Given the description of an element on the screen output the (x, y) to click on. 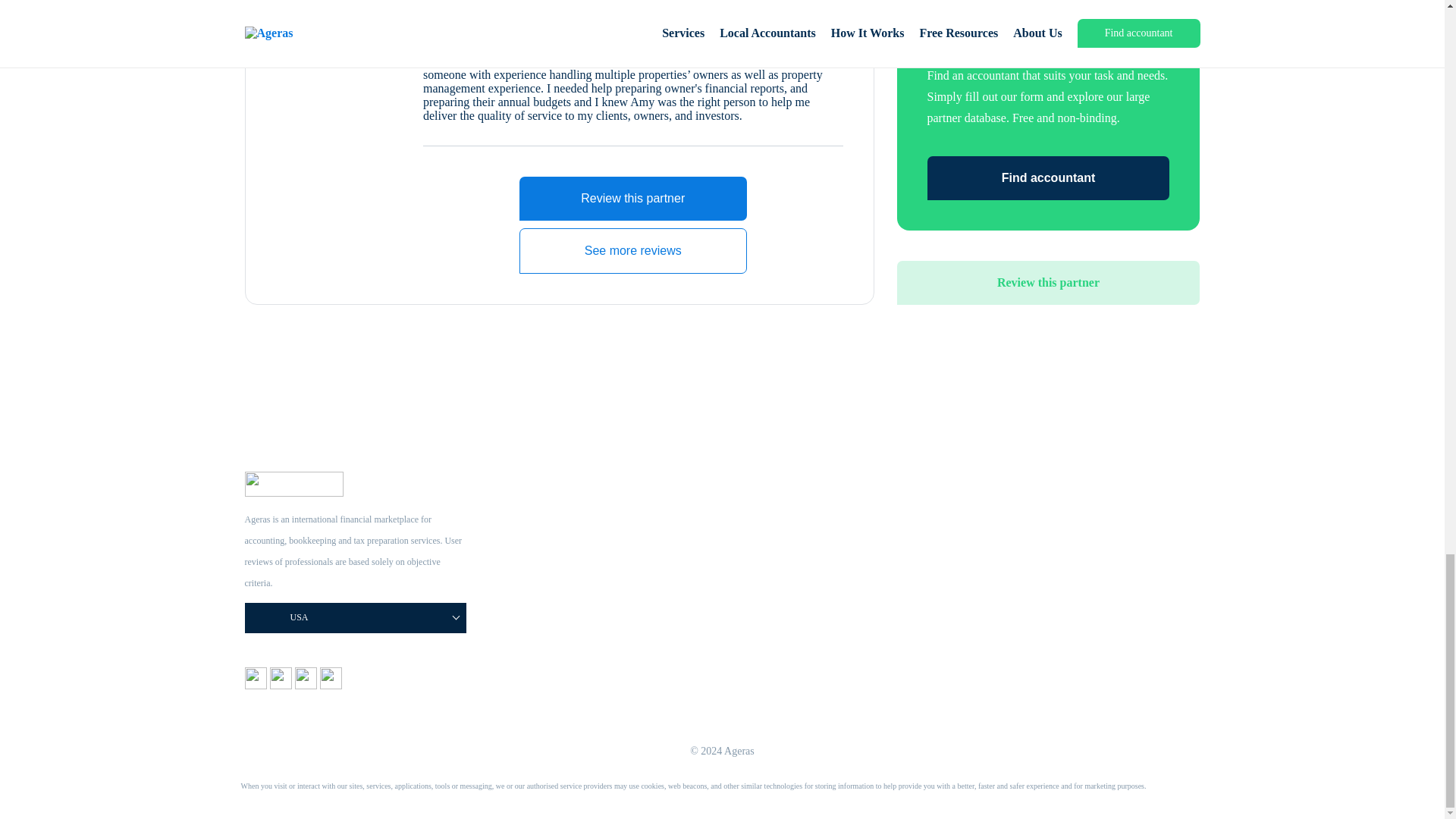
Ageras Instagram (282, 684)
Ageras Linkedin (331, 684)
Ageras Twitter (306, 684)
Ageras Facebook (256, 684)
